Given the description of an element on the screen output the (x, y) to click on. 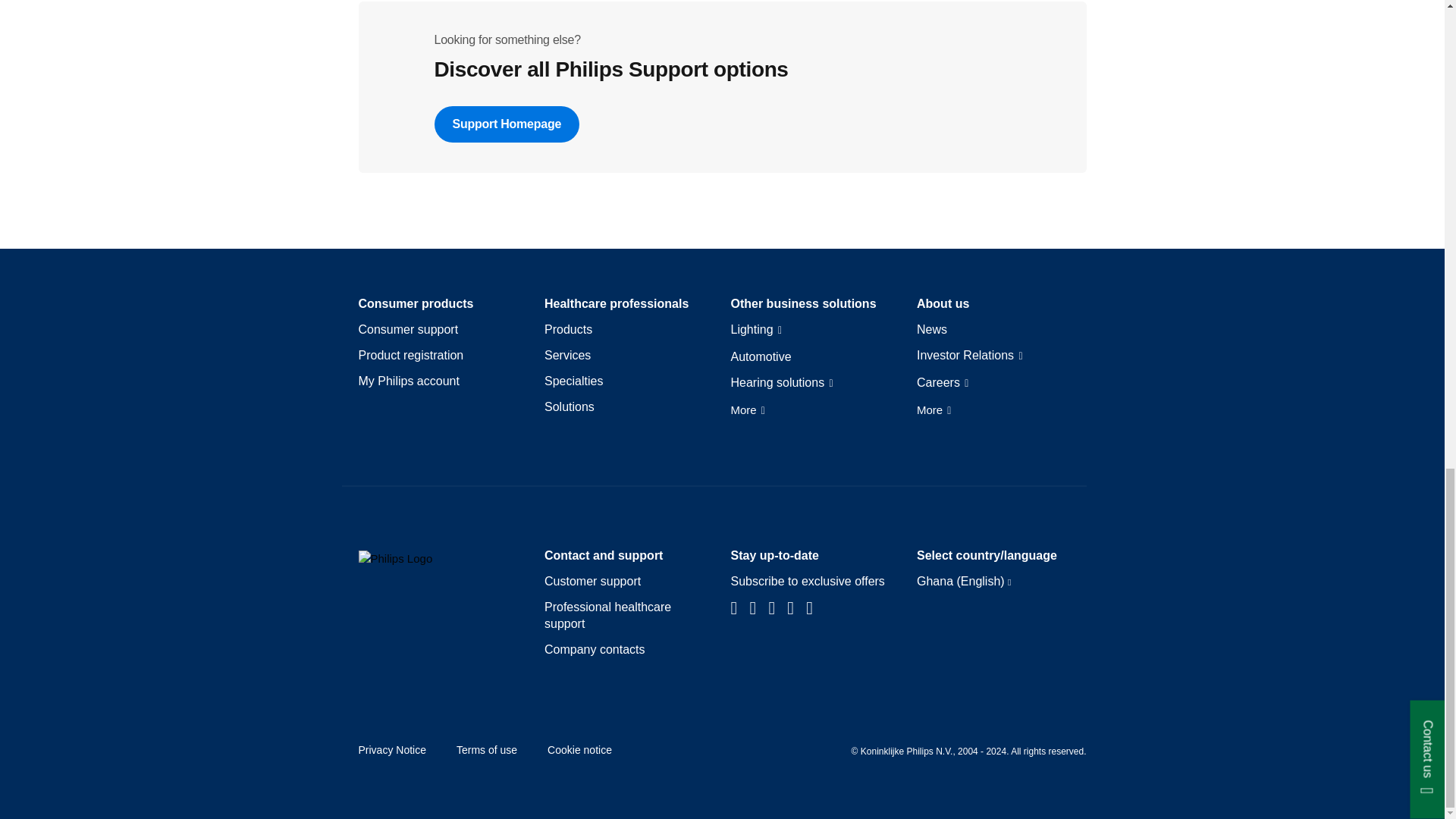
Products (568, 329)
Specialties (573, 381)
Healthcare professionals (616, 303)
News (932, 329)
Product registration (410, 355)
Services (567, 355)
About us (943, 303)
Automotive (761, 356)
Consumer support  (408, 329)
My Philips account (408, 381)
Consumer products (415, 303)
Solutions (569, 406)
